Given the description of an element on the screen output the (x, y) to click on. 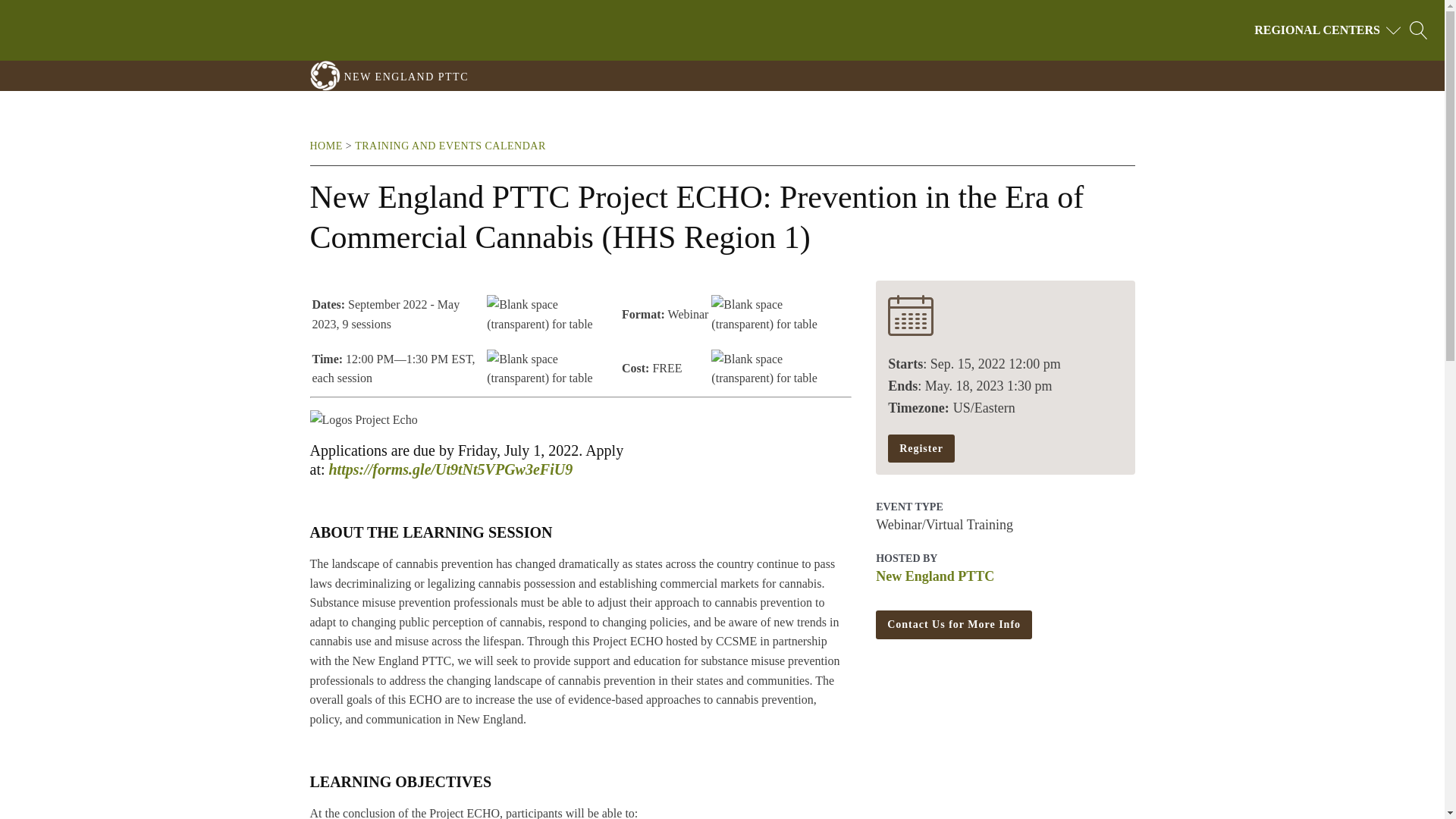
New England PTTC (935, 575)
REGIONAL CENTERS (1329, 30)
HOME (325, 145)
Register (921, 448)
Contact Us for More Info (954, 624)
NEW ENGLAND PTTC (405, 76)
Search (25, 9)
TRAINING AND EVENTS CALENDAR (450, 145)
